Given the description of an element on the screen output the (x, y) to click on. 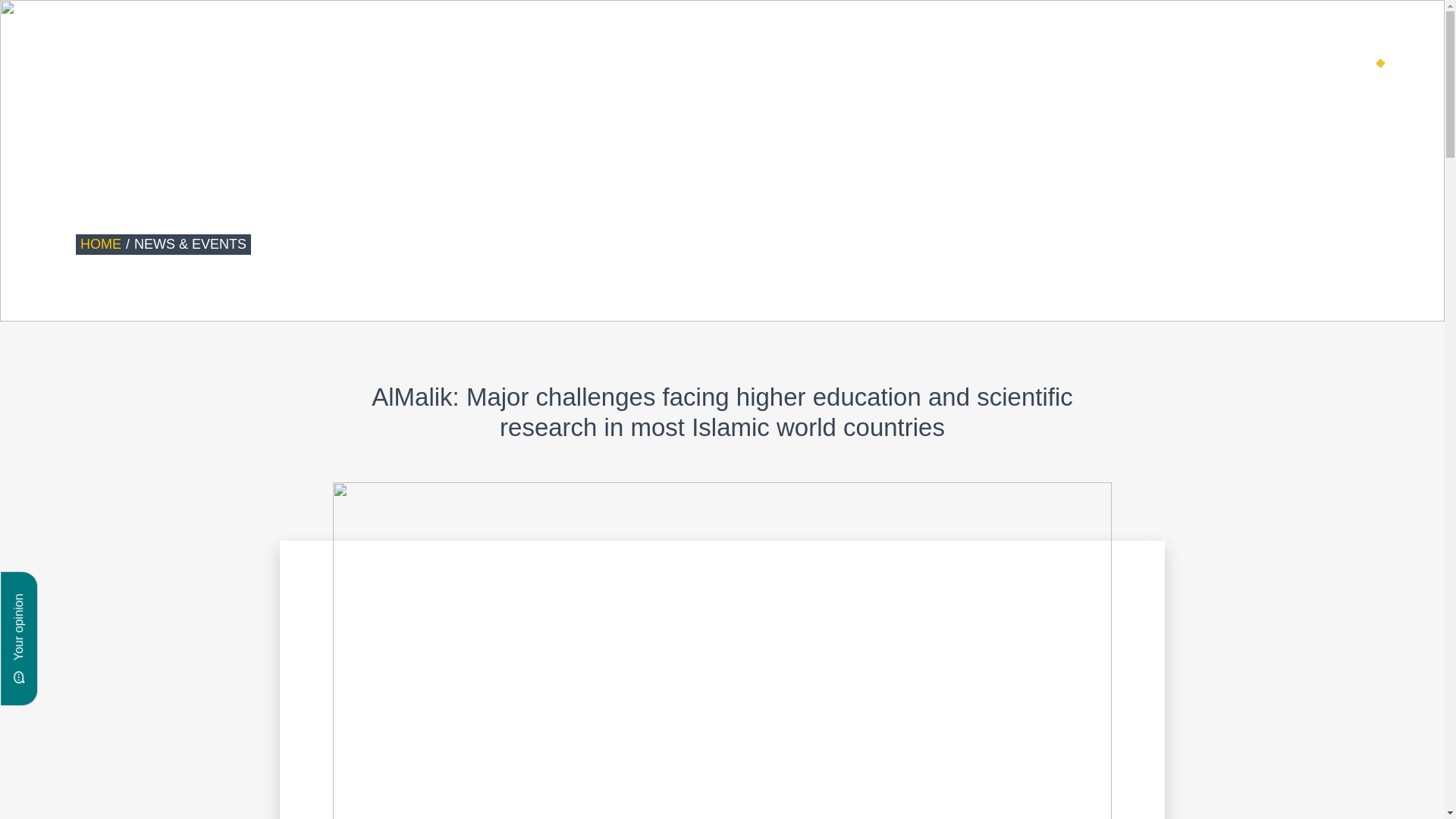
Go to Home. (100, 243)
